Given the description of an element on the screen output the (x, y) to click on. 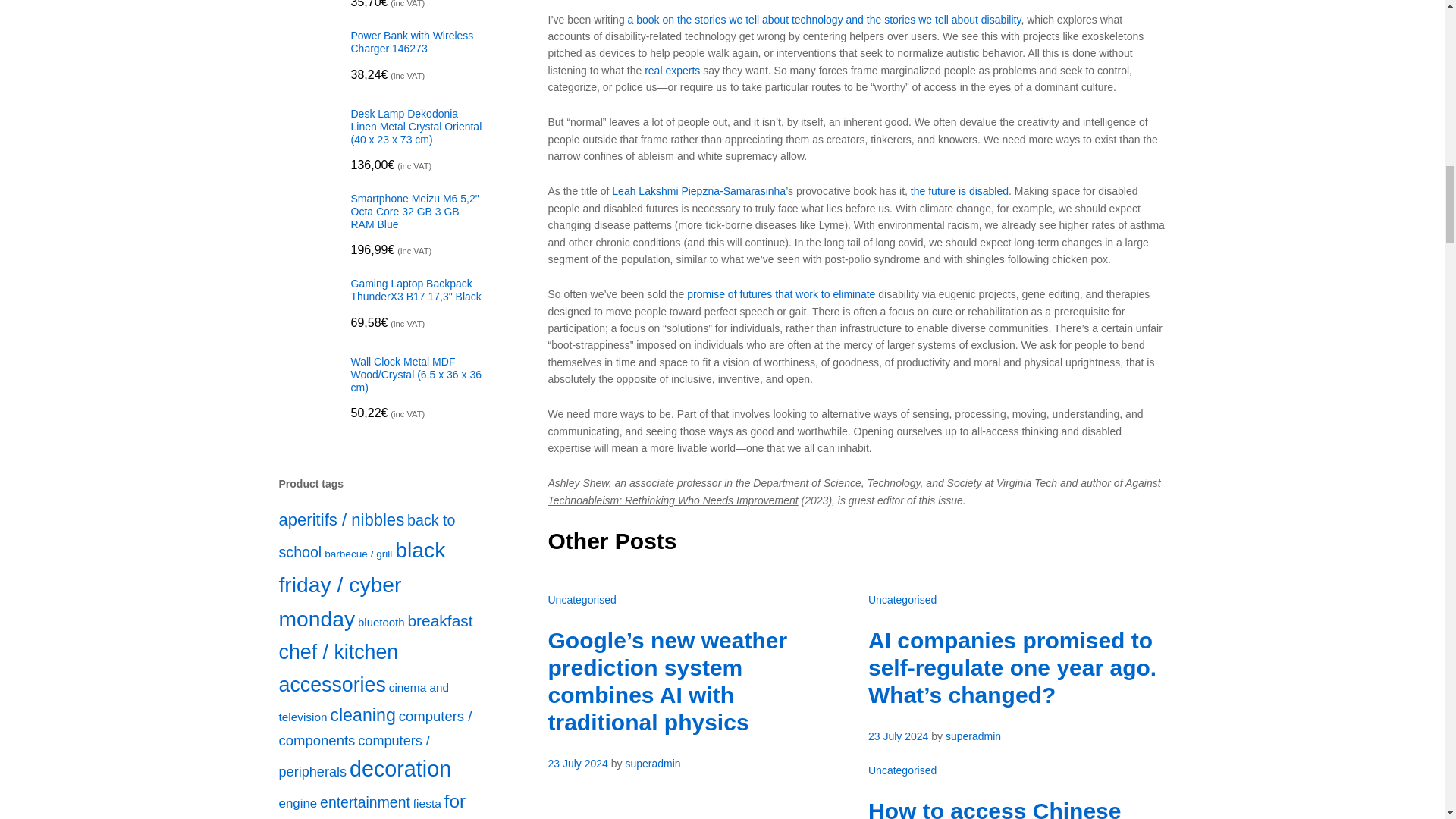
promise of futures that work to eliminate (781, 294)
the future is disabled (960, 191)
Leah Lakshmi Piepzna-Samarasinha (698, 191)
real experts (672, 70)
Uncategorised (581, 599)
